Given the description of an element on the screen output the (x, y) to click on. 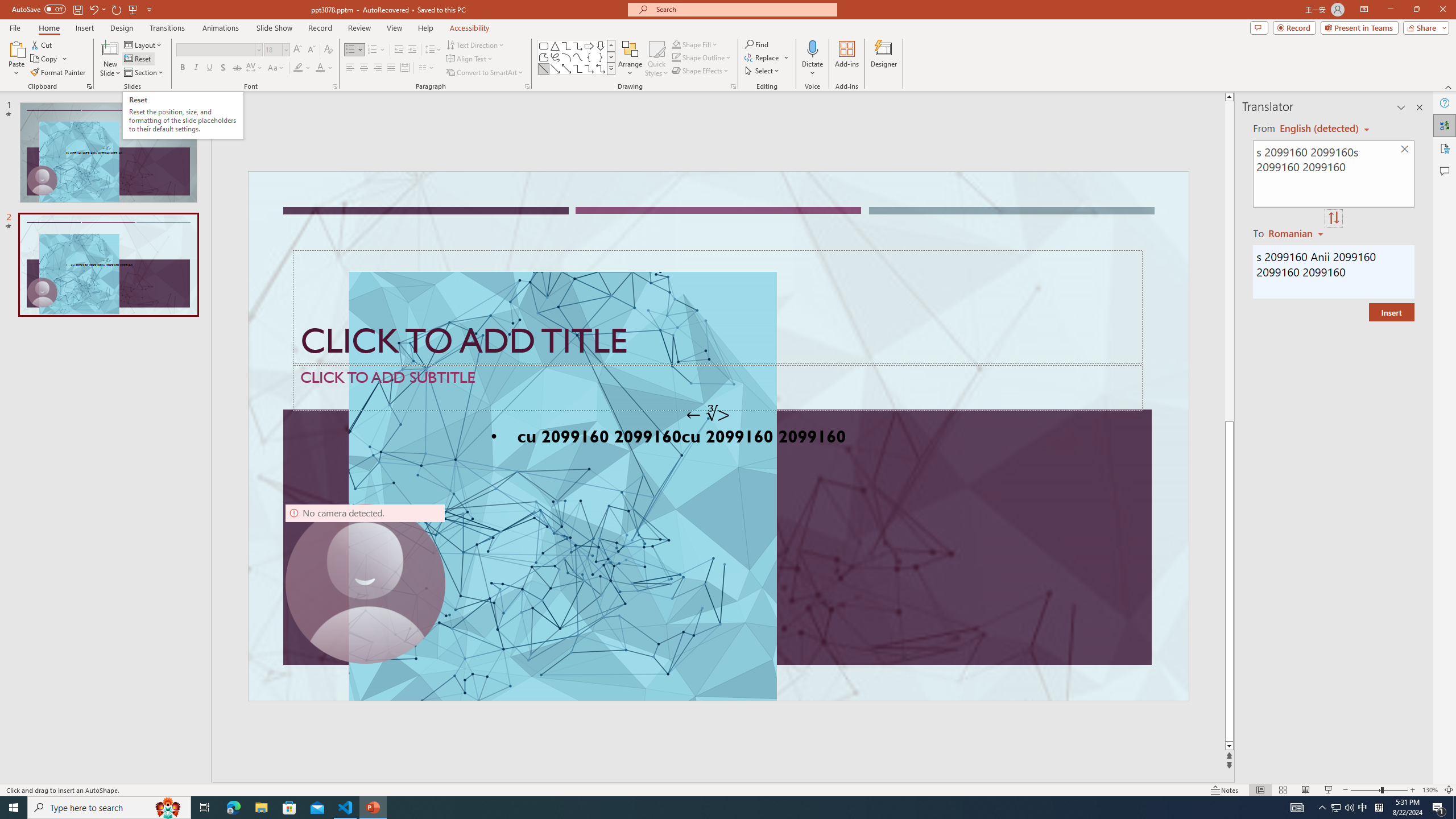
Change Case (276, 67)
Font (219, 49)
Quick Styles (656, 58)
Layout (143, 44)
An abstract genetic concept (718, 436)
Line Spacing (433, 49)
Align Right (377, 67)
Justify (390, 67)
Align Left (349, 67)
